Given the description of an element on the screen output the (x, y) to click on. 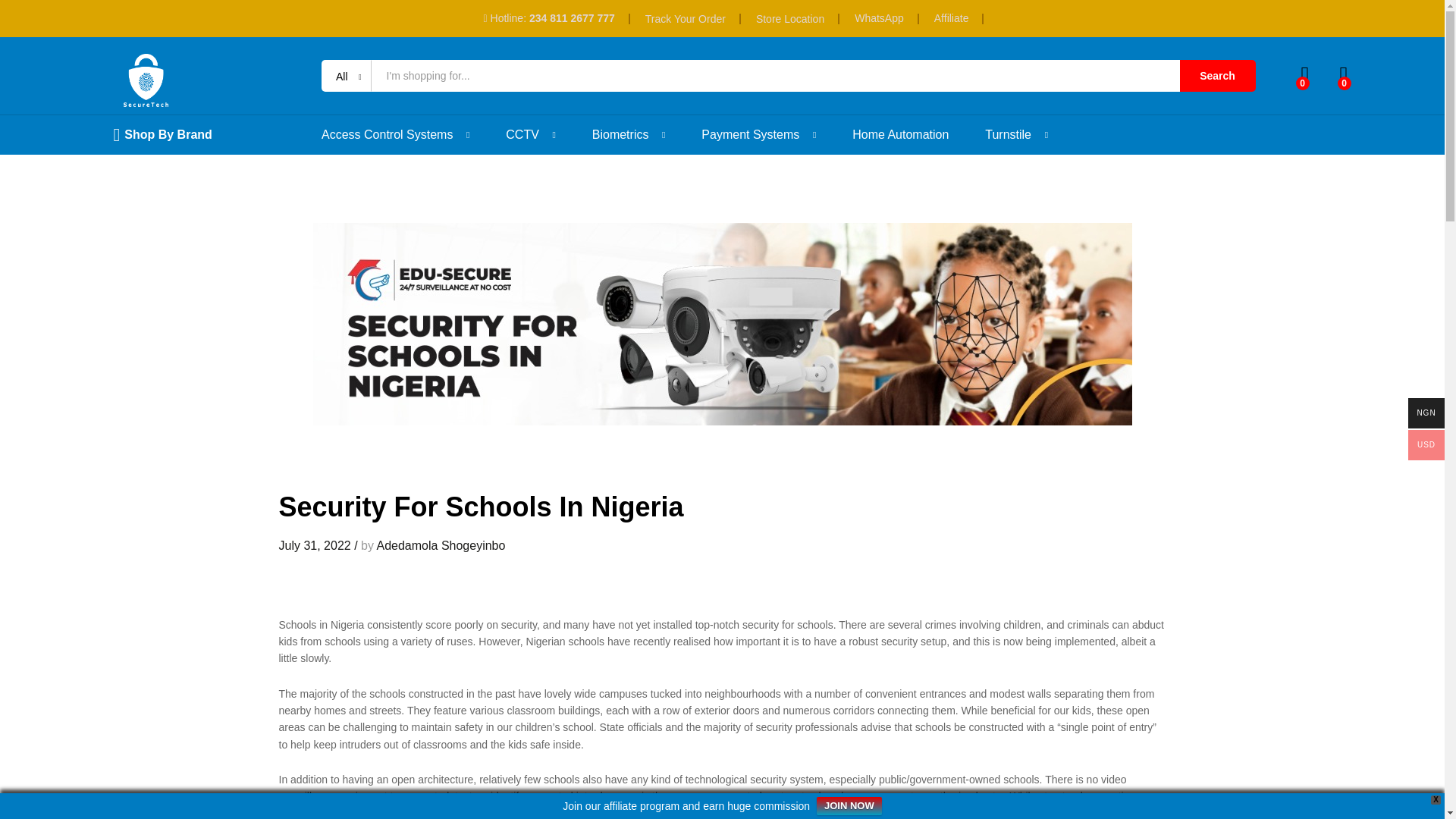
234 811 2677 777 (571, 18)
WhatsApp (879, 18)
Affiliate (951, 18)
Store Location (789, 18)
Track Your Order (685, 18)
